Given the description of an element on the screen output the (x, y) to click on. 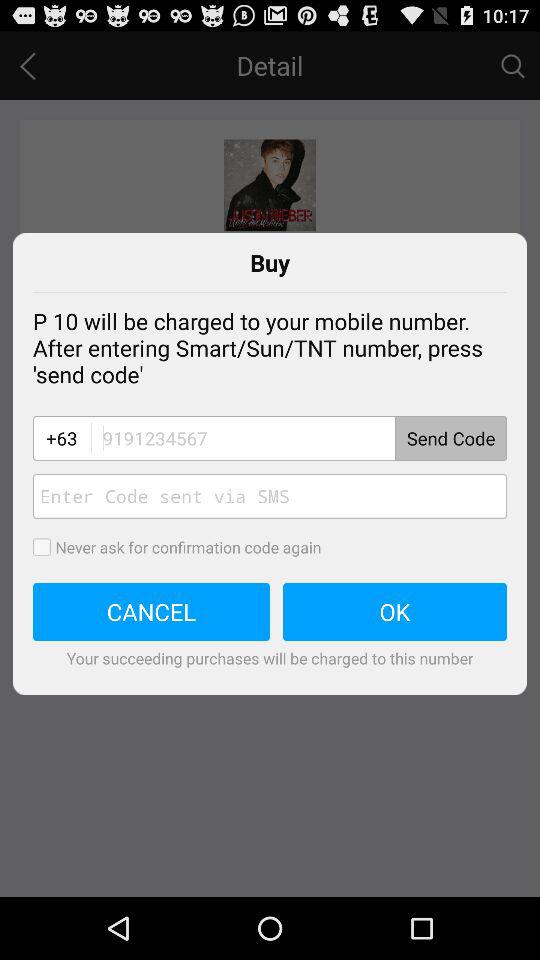
press the item to the left of ok icon (151, 611)
